Given the description of an element on the screen output the (x, y) to click on. 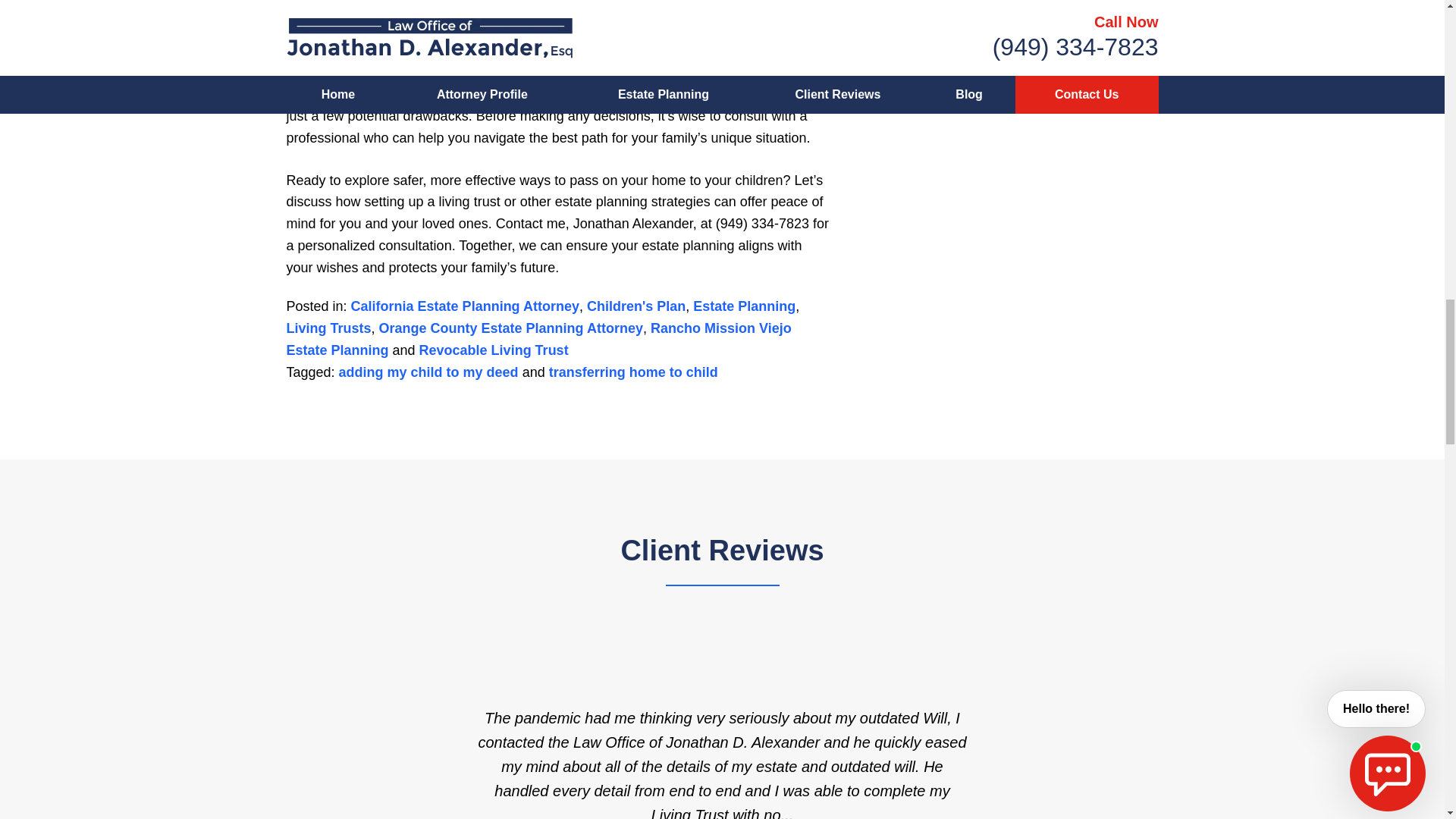
Orange County Estate Planning Attorney (510, 328)
Living Trusts (328, 328)
Children's Plan (635, 305)
transferring home to child (632, 372)
Rancho Mission Viejo Estate Planning (539, 339)
Revocable Living Trust (494, 350)
Estate Planning (743, 305)
California Estate Planning Attorney (464, 305)
adding my child to my deed (428, 372)
